Given the description of an element on the screen output the (x, y) to click on. 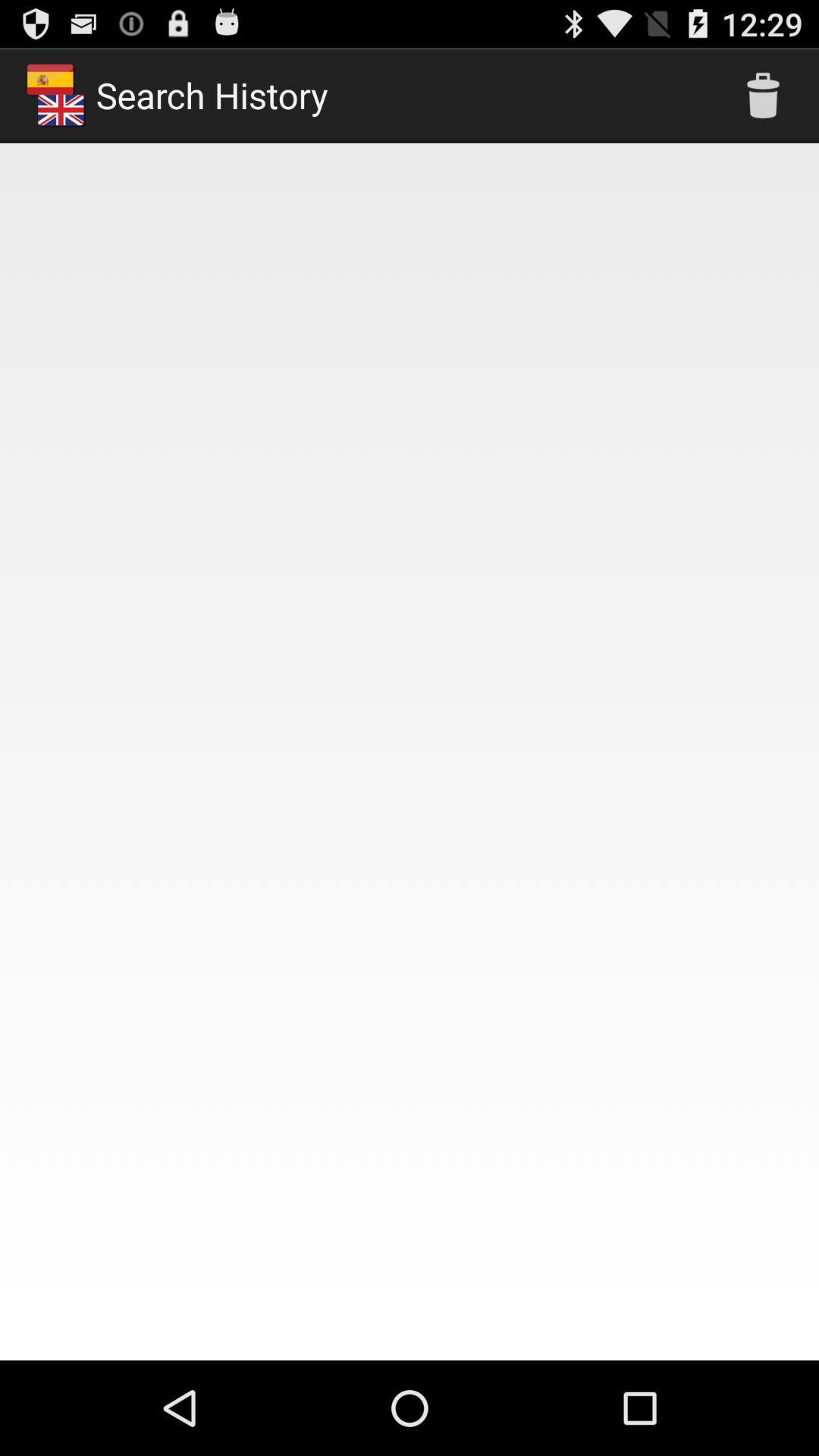
select the app to the right of search history app (763, 95)
